Given the description of an element on the screen output the (x, y) to click on. 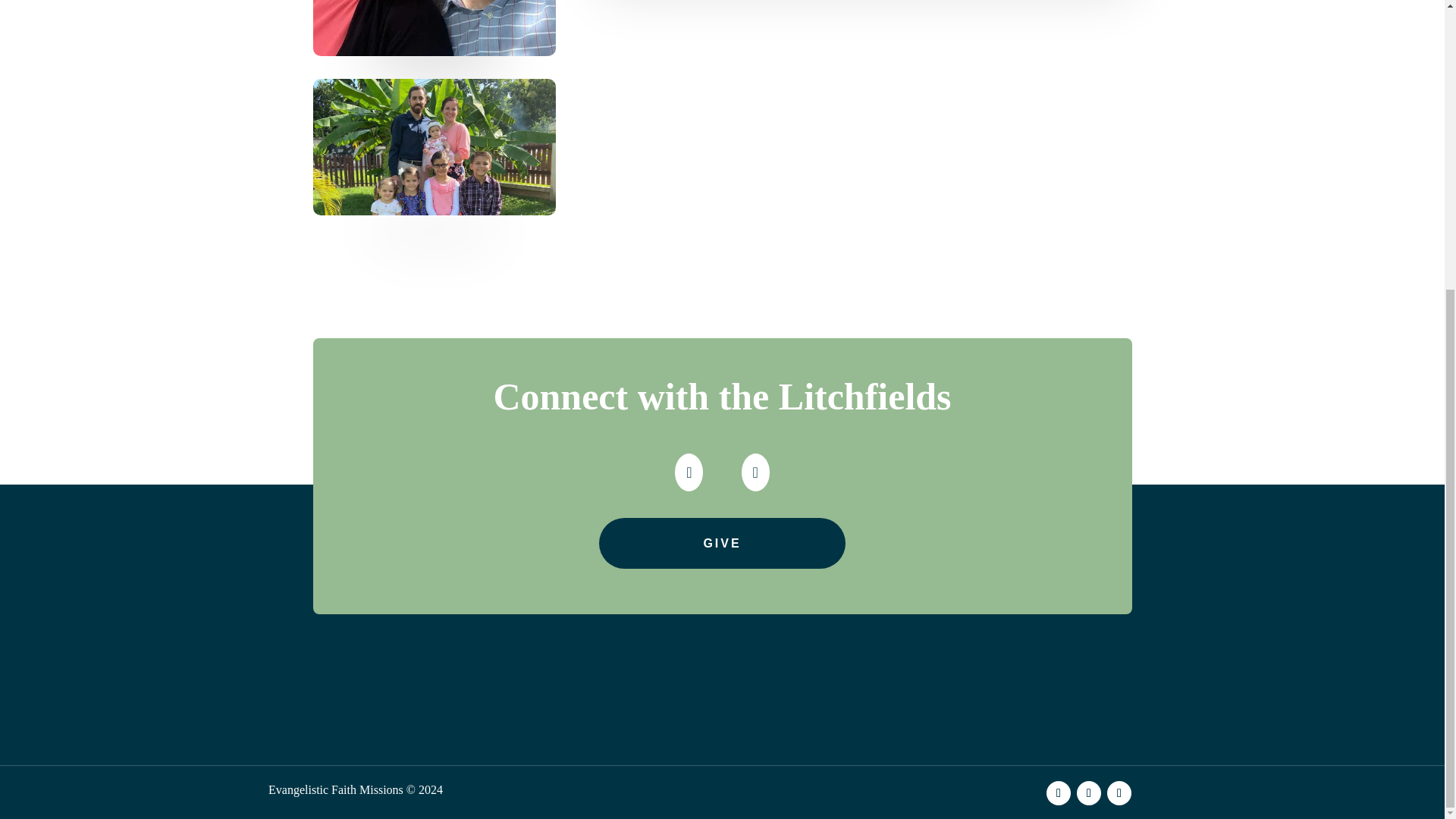
Follow on Youtube (1118, 793)
Follow on Facebook (1058, 793)
Follow on Instagram (1088, 793)
Facebook (689, 487)
Signal Group (755, 487)
